Given the description of an element on the screen output the (x, y) to click on. 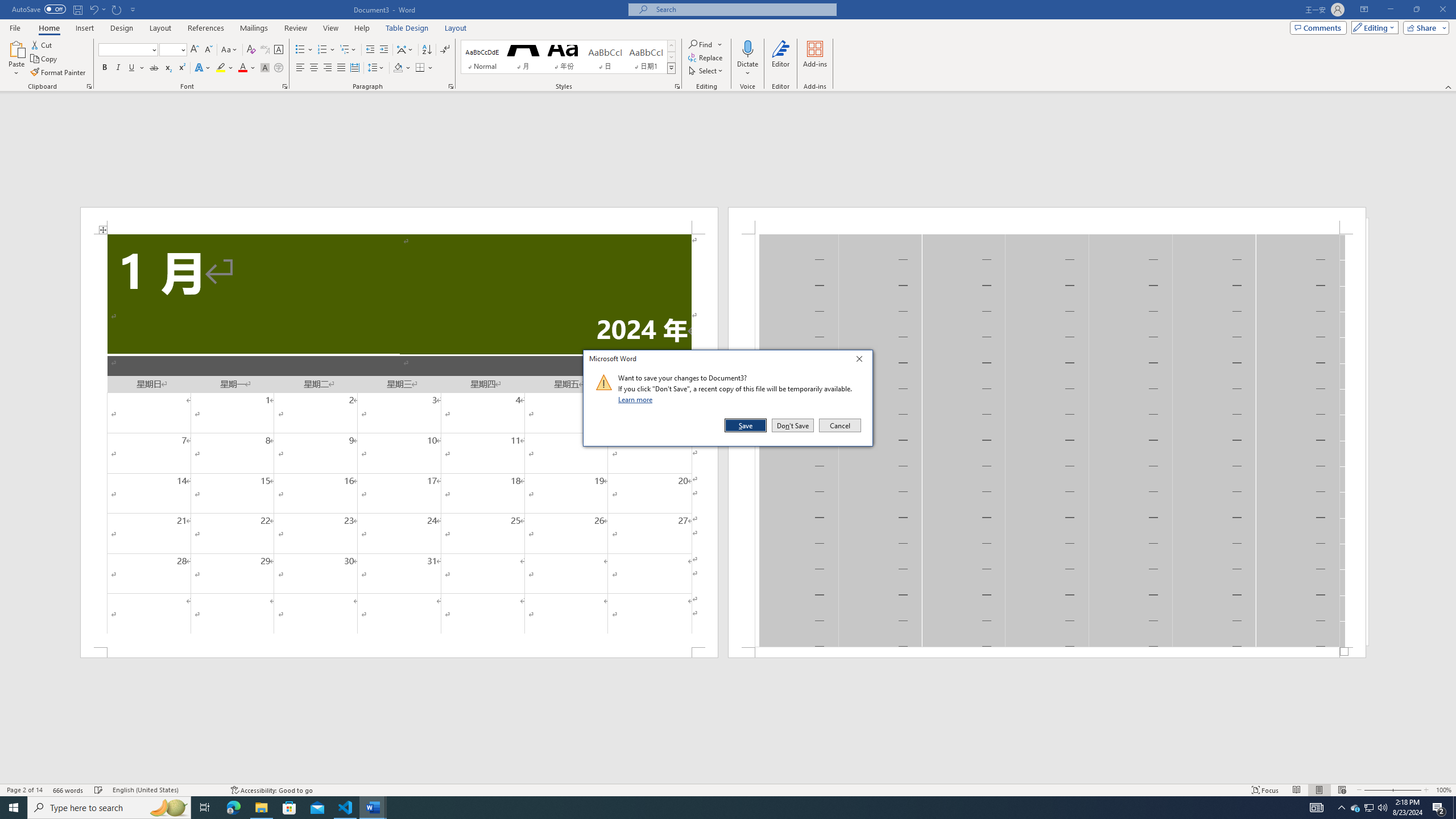
Styles (670, 67)
Visual Studio Code - 1 running window (345, 807)
Zoom In (1407, 790)
Class: NetUIImage (603, 382)
Phonetic Guide... (264, 49)
Undo Distribute Para (92, 9)
Cancel (839, 425)
Font Size (172, 49)
Q2790: 100% (1382, 807)
Copy (45, 58)
Show/Hide Editing Marks (444, 49)
Paste (16, 58)
File Explorer - 1 running window (261, 807)
